Given the description of an element on the screen output the (x, y) to click on. 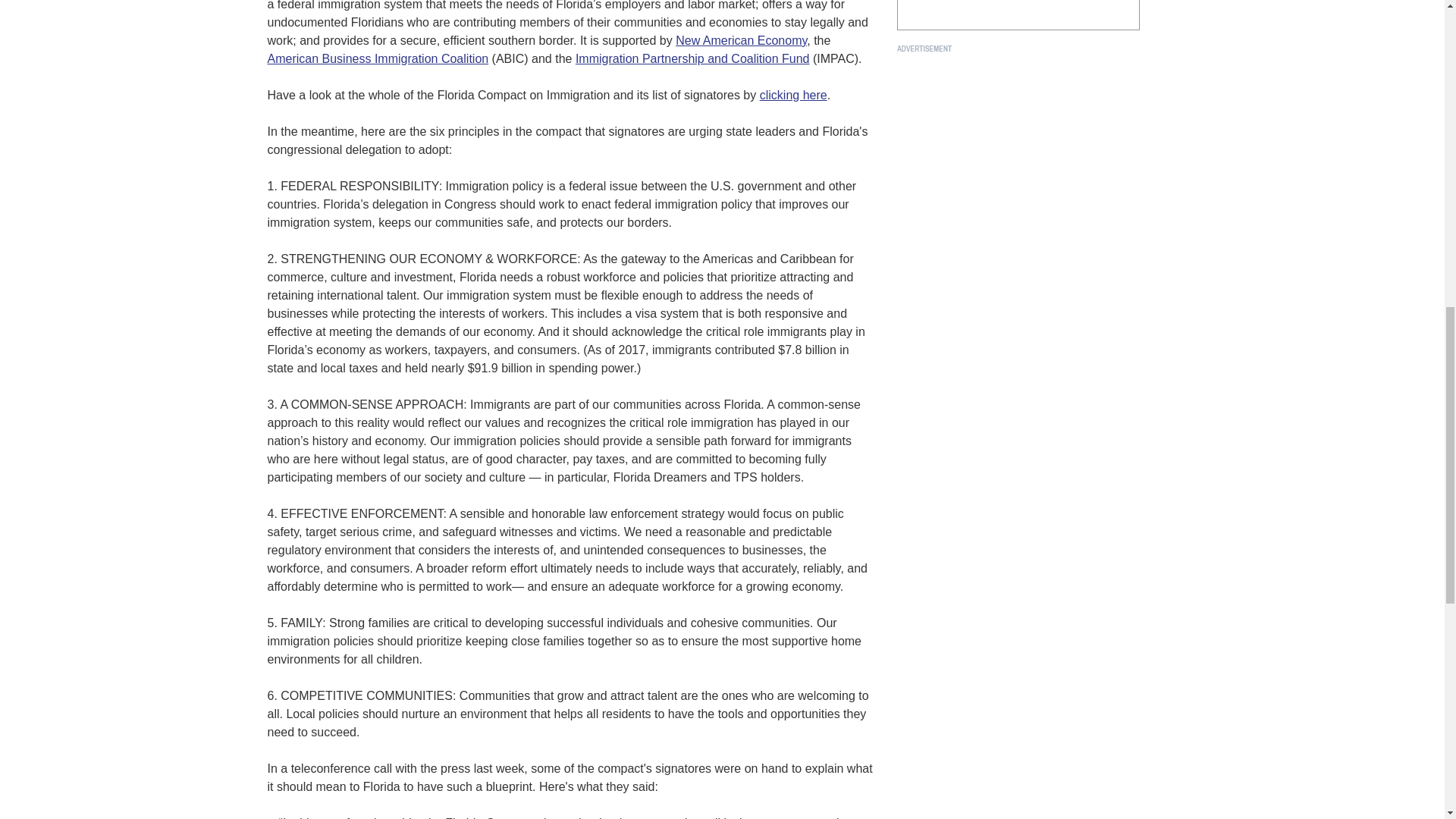
New American Economy (740, 40)
American Business Immigration Coalition (376, 58)
clicking here (793, 94)
Immigration Partnership and Coalition Fund (692, 58)
